Given the description of an element on the screen output the (x, y) to click on. 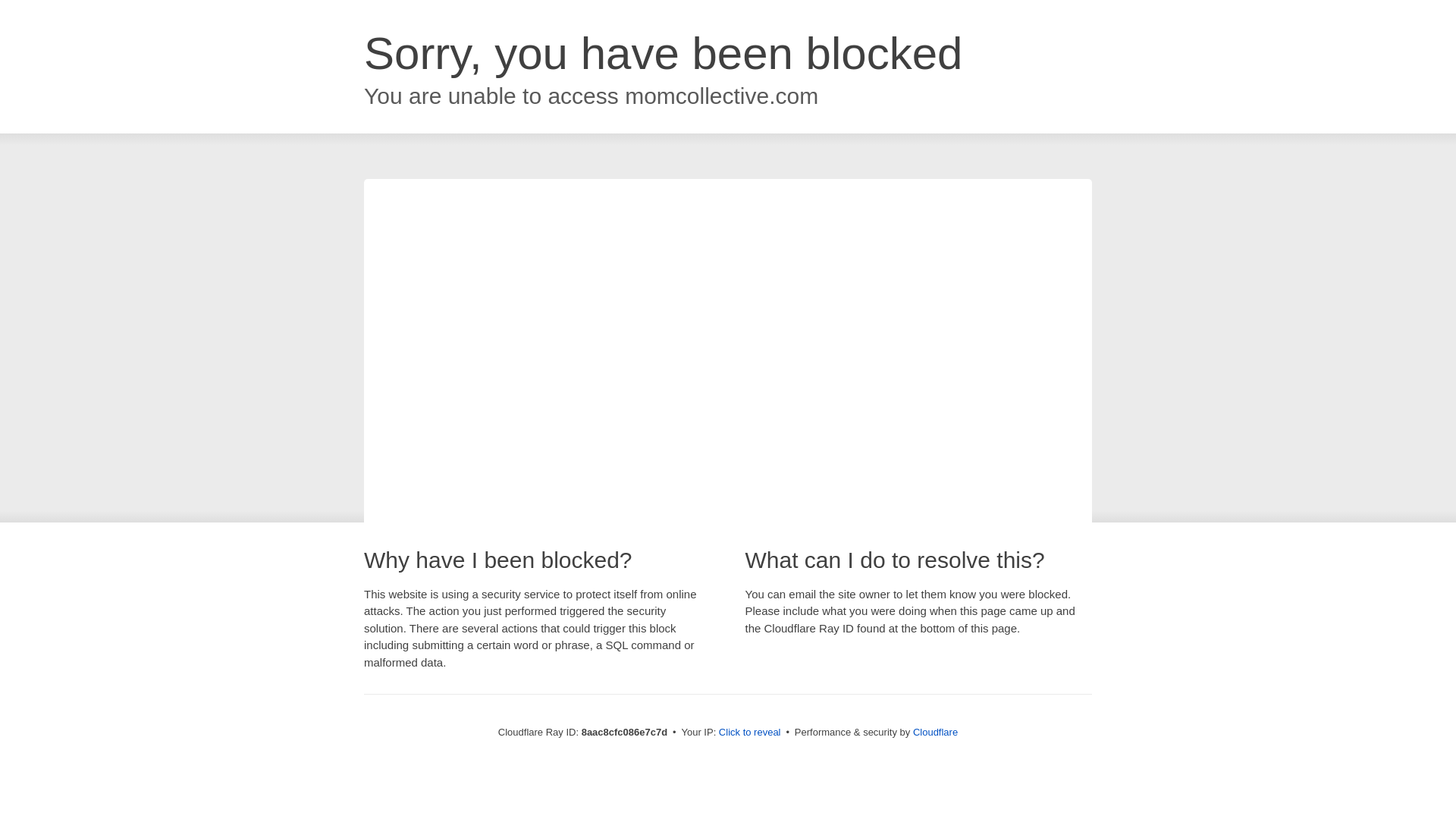
Click to reveal (749, 732)
Cloudflare (935, 731)
